Given the description of an element on the screen output the (x, y) to click on. 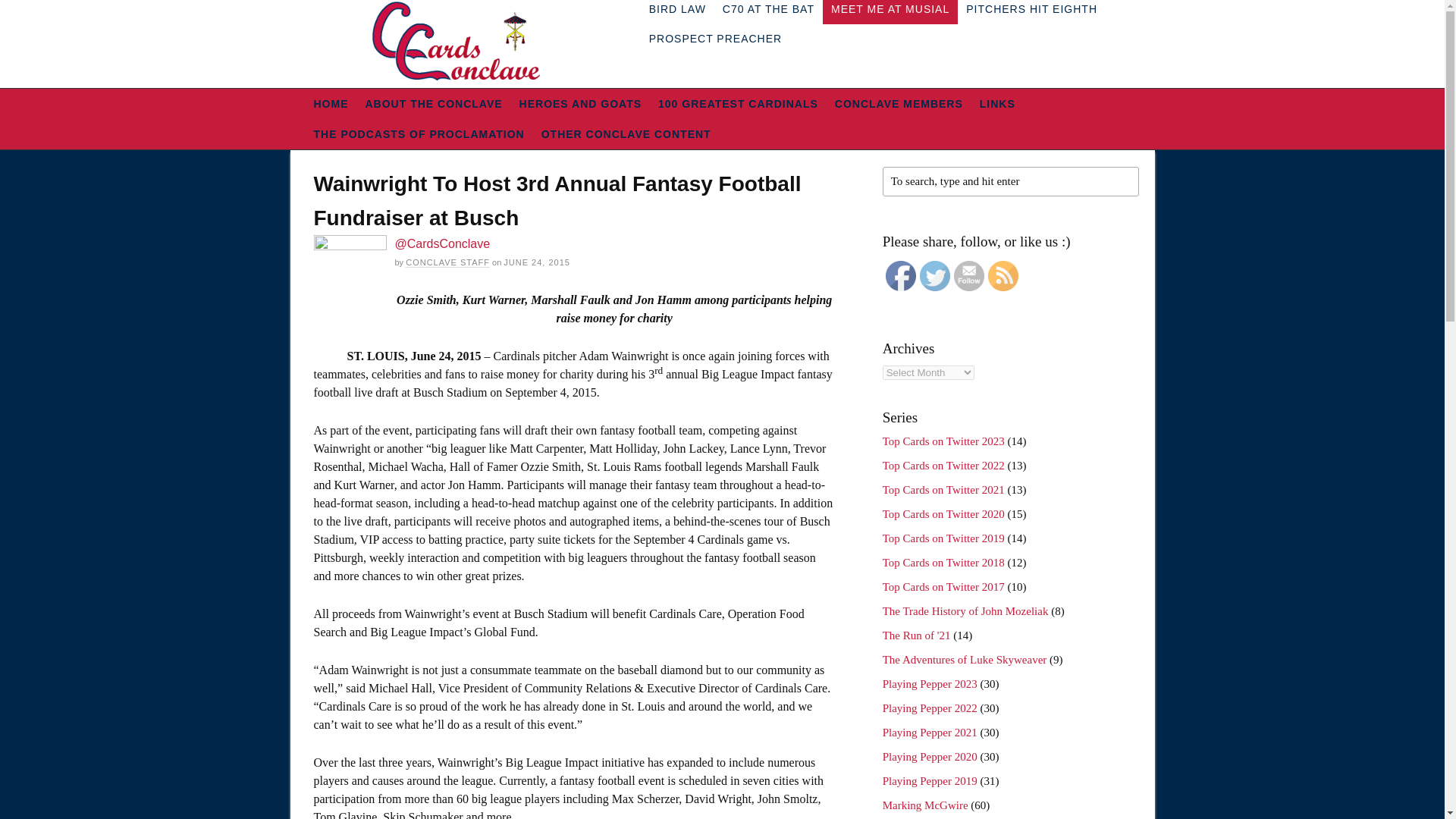
RSS (1002, 276)
HEROES AND GOATS (580, 103)
C70 AT THE BAT (768, 12)
CONCLAVE MEMBERS (899, 103)
PROSPECT PREACHER (715, 39)
ABOUT THE CONCLAVE (433, 103)
OTHER CONCLAVE CONTENT (625, 133)
BIRD LAW (677, 12)
Facebook (900, 276)
THE PODCASTS OF PROCLAMATION (418, 133)
